Given the description of an element on the screen output the (x, y) to click on. 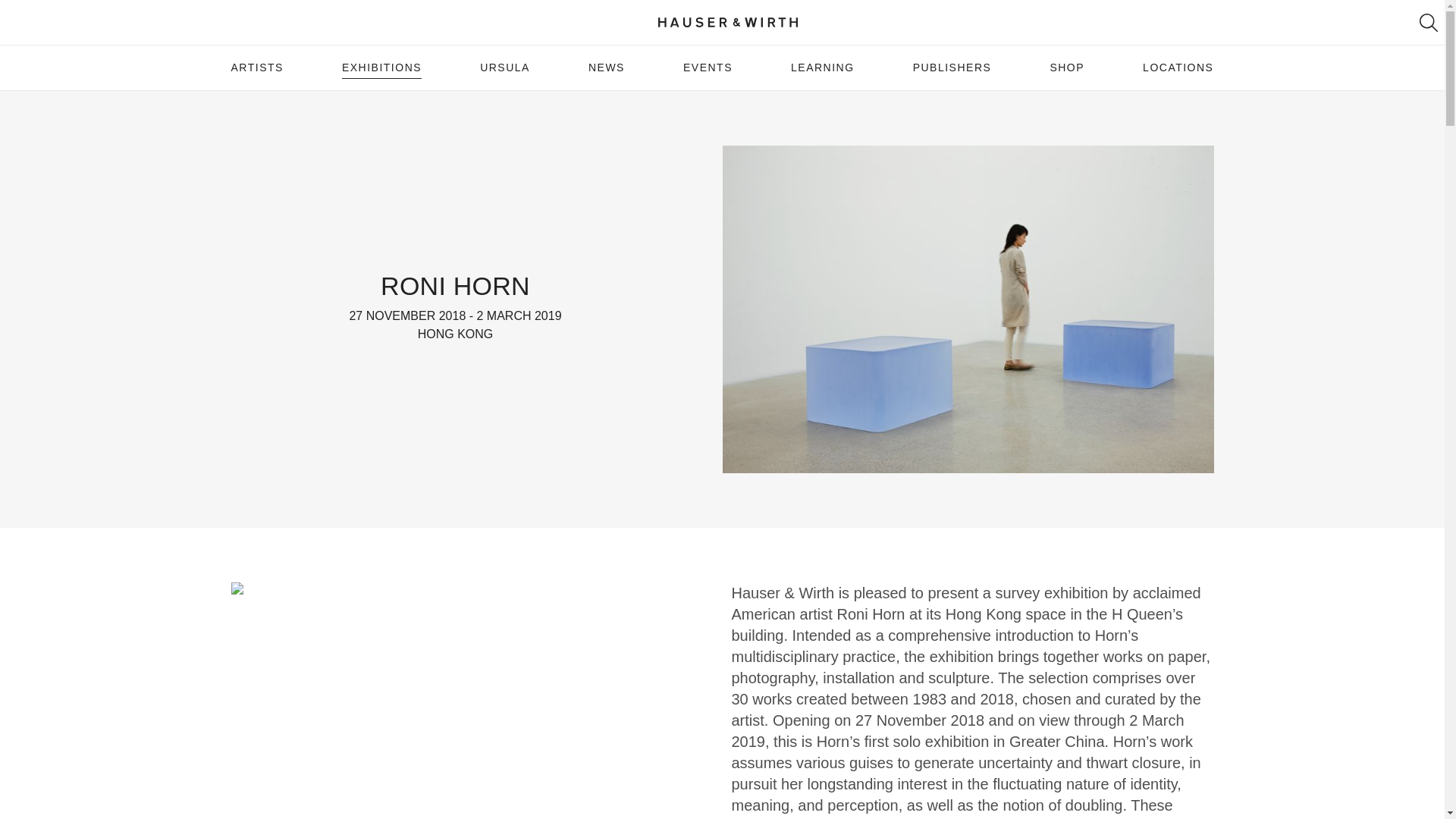
ARTISTS (256, 67)
URSULA (504, 67)
EXHIBITIONS (382, 67)
